Given the description of an element on the screen output the (x, y) to click on. 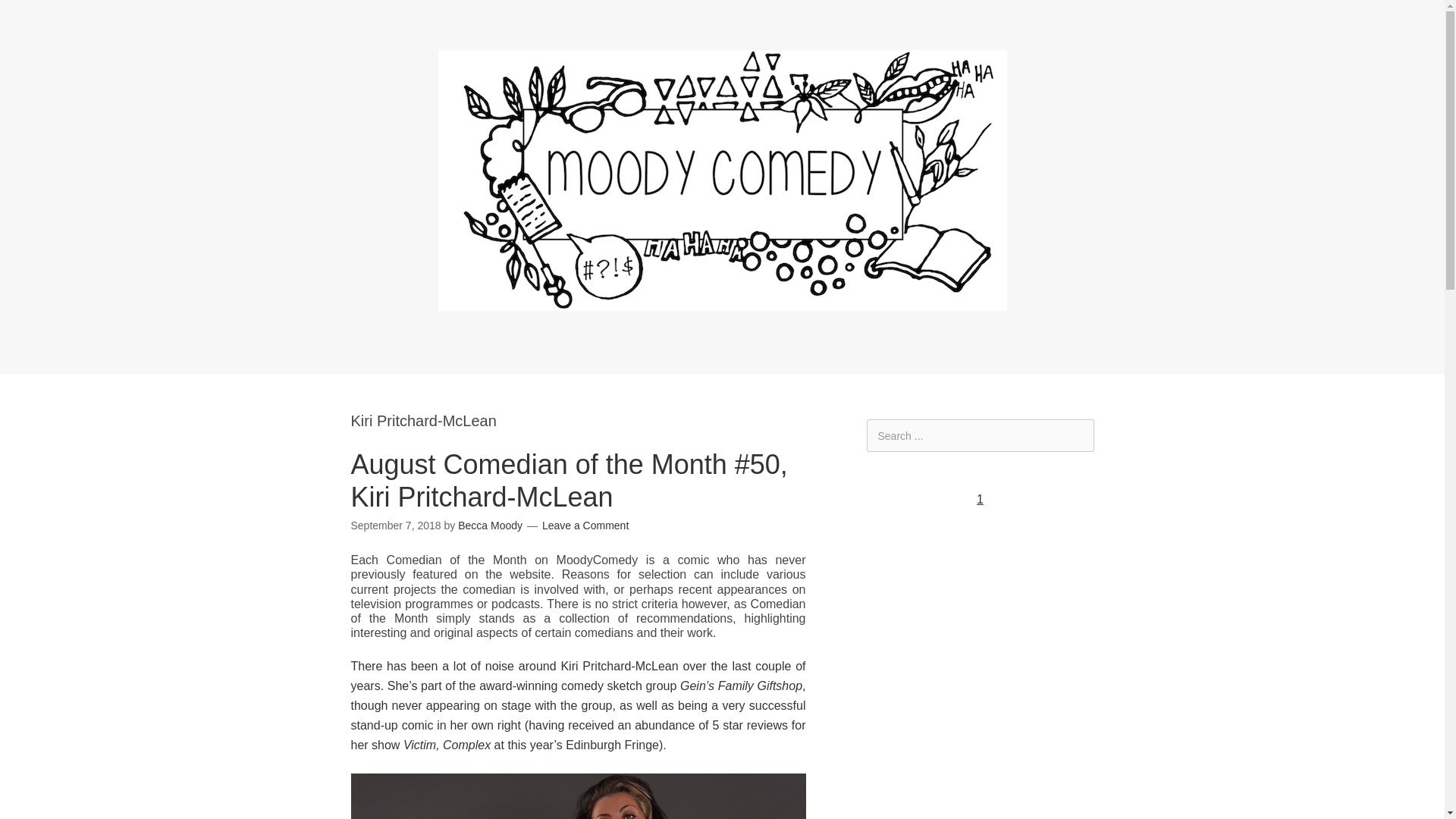
MoodyComedy (722, 299)
Becca Moody (490, 525)
Search for: (979, 435)
Friday, September 7, 2018, 12:12 pm (395, 525)
Leave a Comment (584, 525)
Posts by Becca Moody (490, 525)
